Given the description of an element on the screen output the (x, y) to click on. 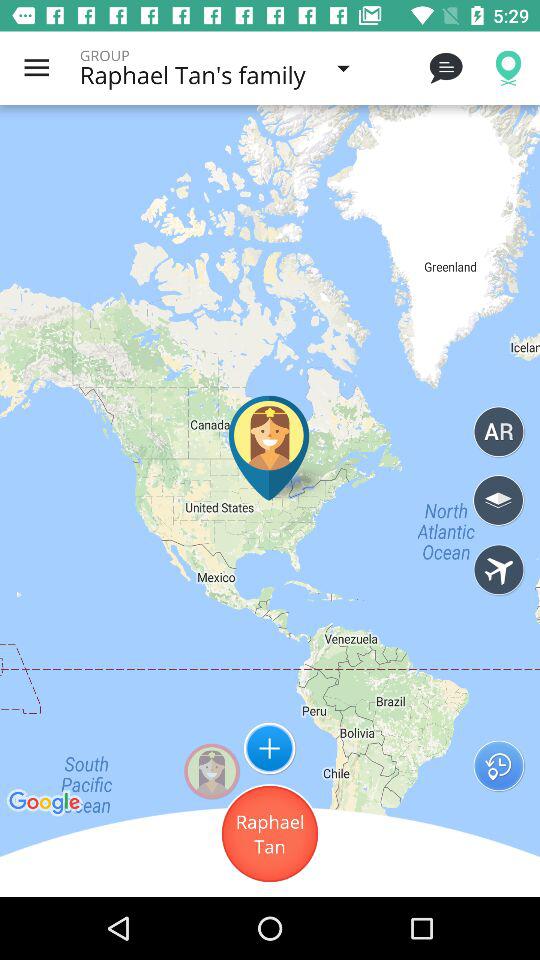
search flights (498, 569)
